Given the description of an element on the screen output the (x, y) to click on. 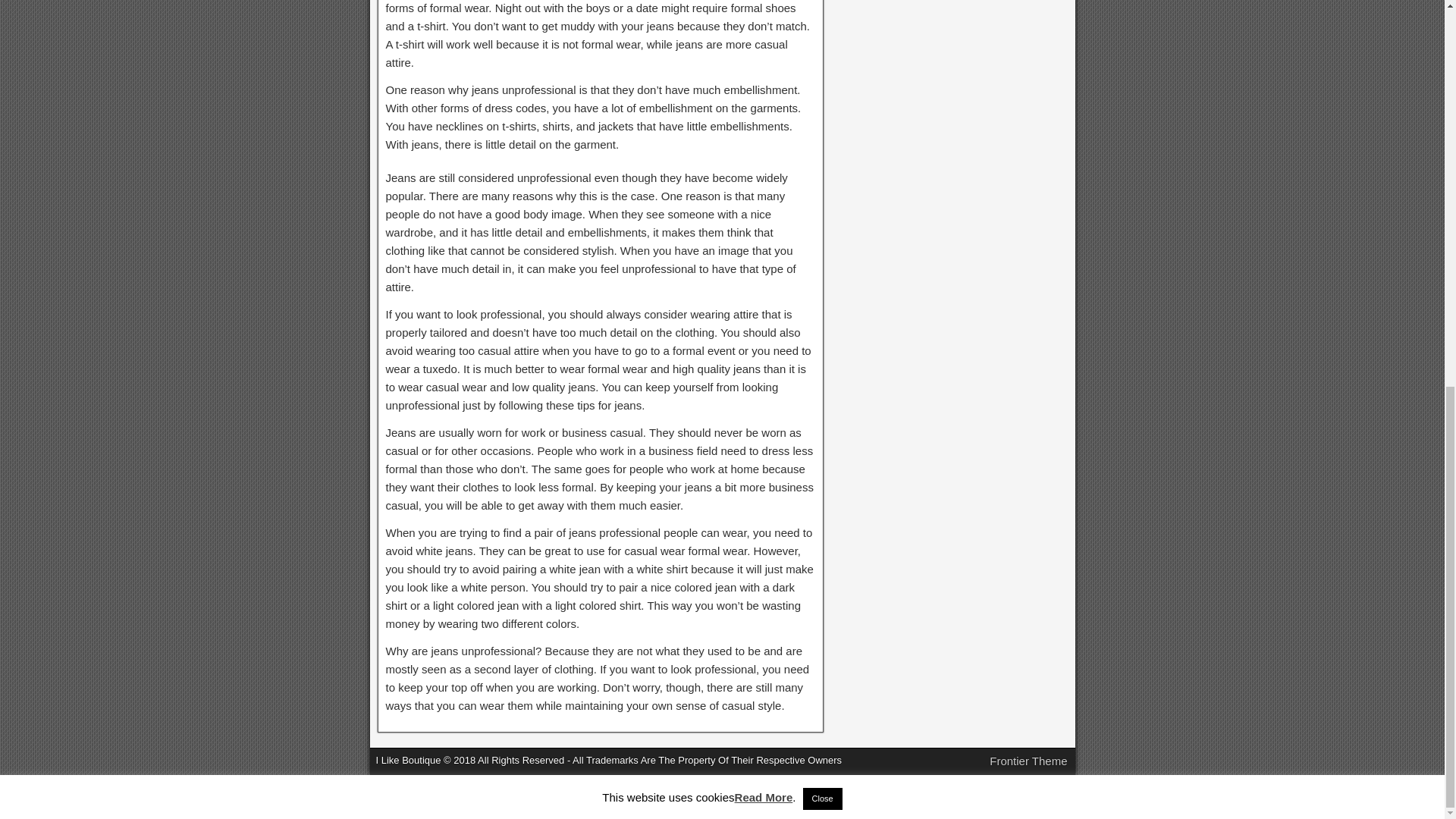
Frontier Theme (1028, 760)
Read More (764, 66)
Close (823, 68)
